Given the description of an element on the screen output the (x, y) to click on. 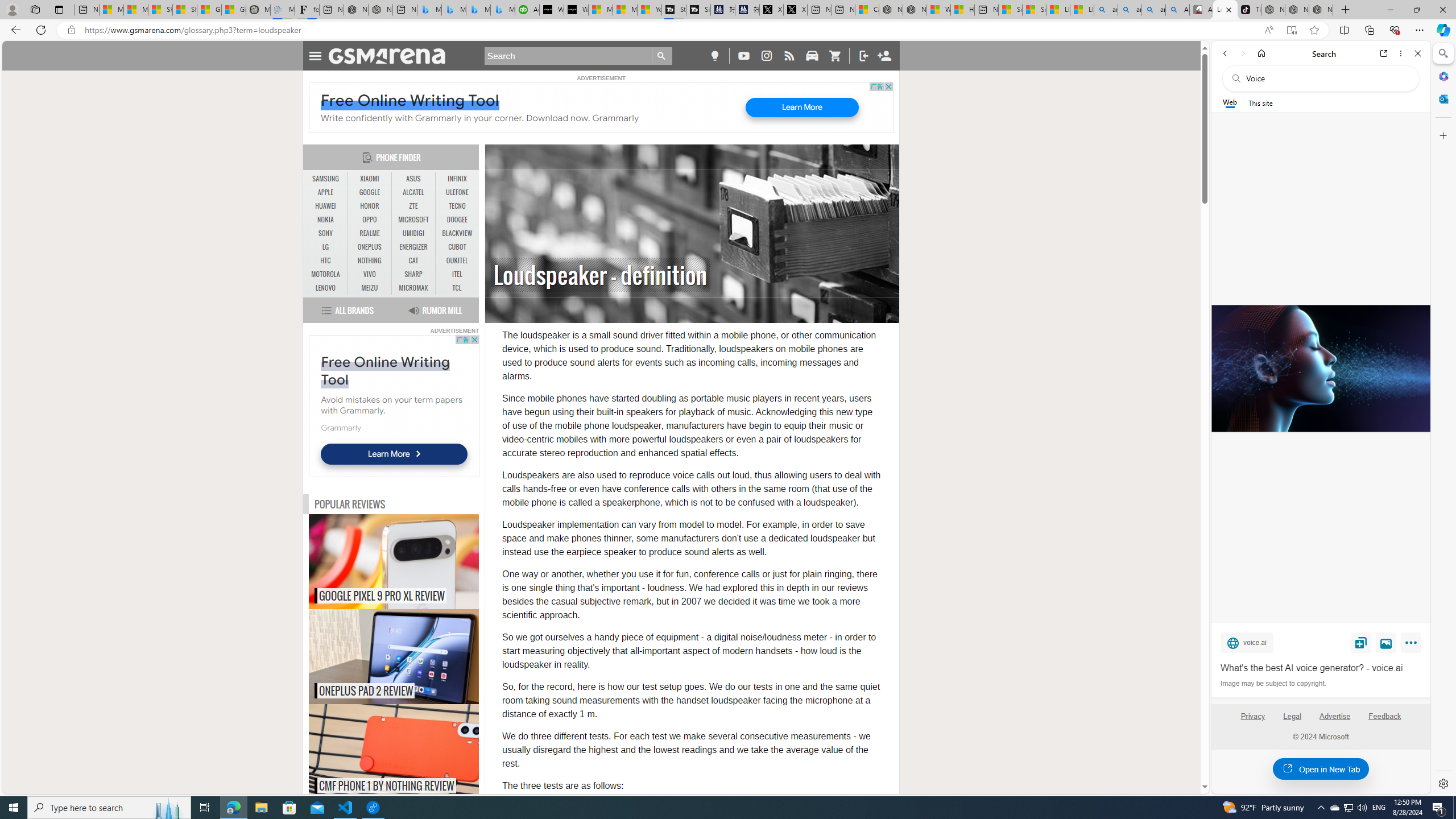
MOTOROLA (325, 273)
SONY (325, 233)
Enter Immersive Reader (F9) (1291, 29)
LENOVO (325, 287)
OUKITEL (457, 260)
Web scope (1230, 102)
OUKITEL (457, 260)
SONY (325, 233)
